Given the description of an element on the screen output the (x, y) to click on. 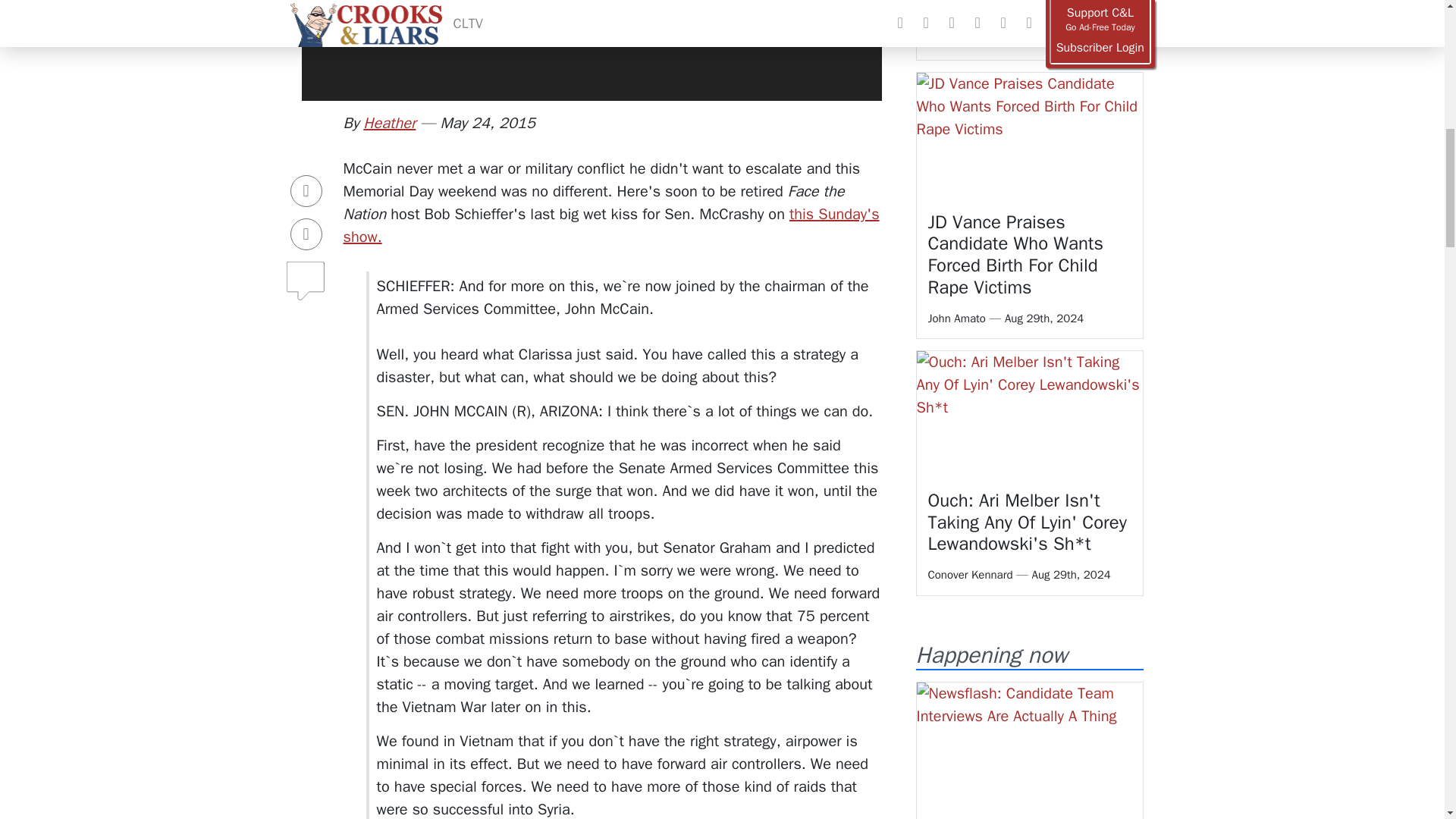
Comments (306, 234)
Share on Facebook (306, 151)
this Sunday's show. (610, 225)
Heather (388, 122)
Share on Twitter (306, 193)
Face the Nation Transcripts May 24, 2015: McCain, Schiff (610, 225)
Heather (388, 122)
